Given the description of an element on the screen output the (x, y) to click on. 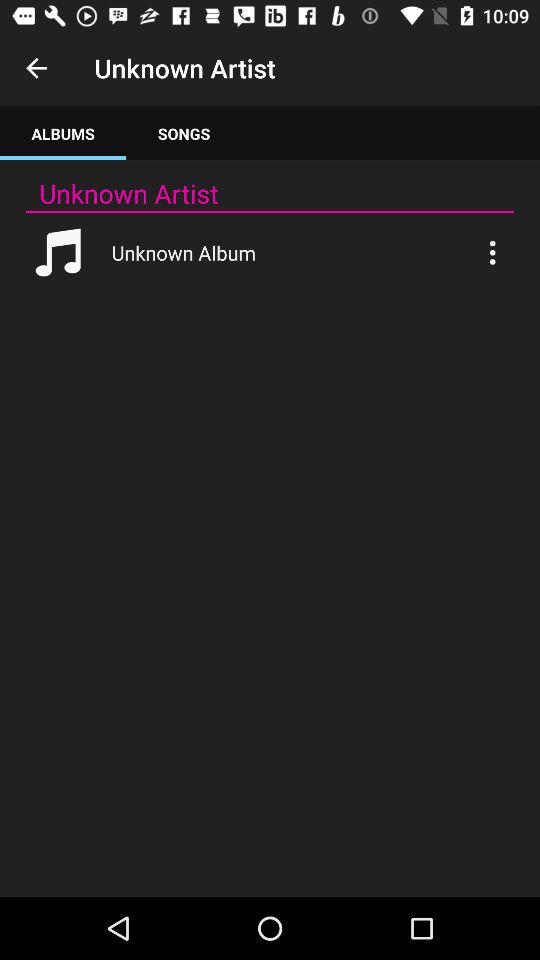
turn on app below unknown artist icon (269, 211)
